Given the description of an element on the screen output the (x, y) to click on. 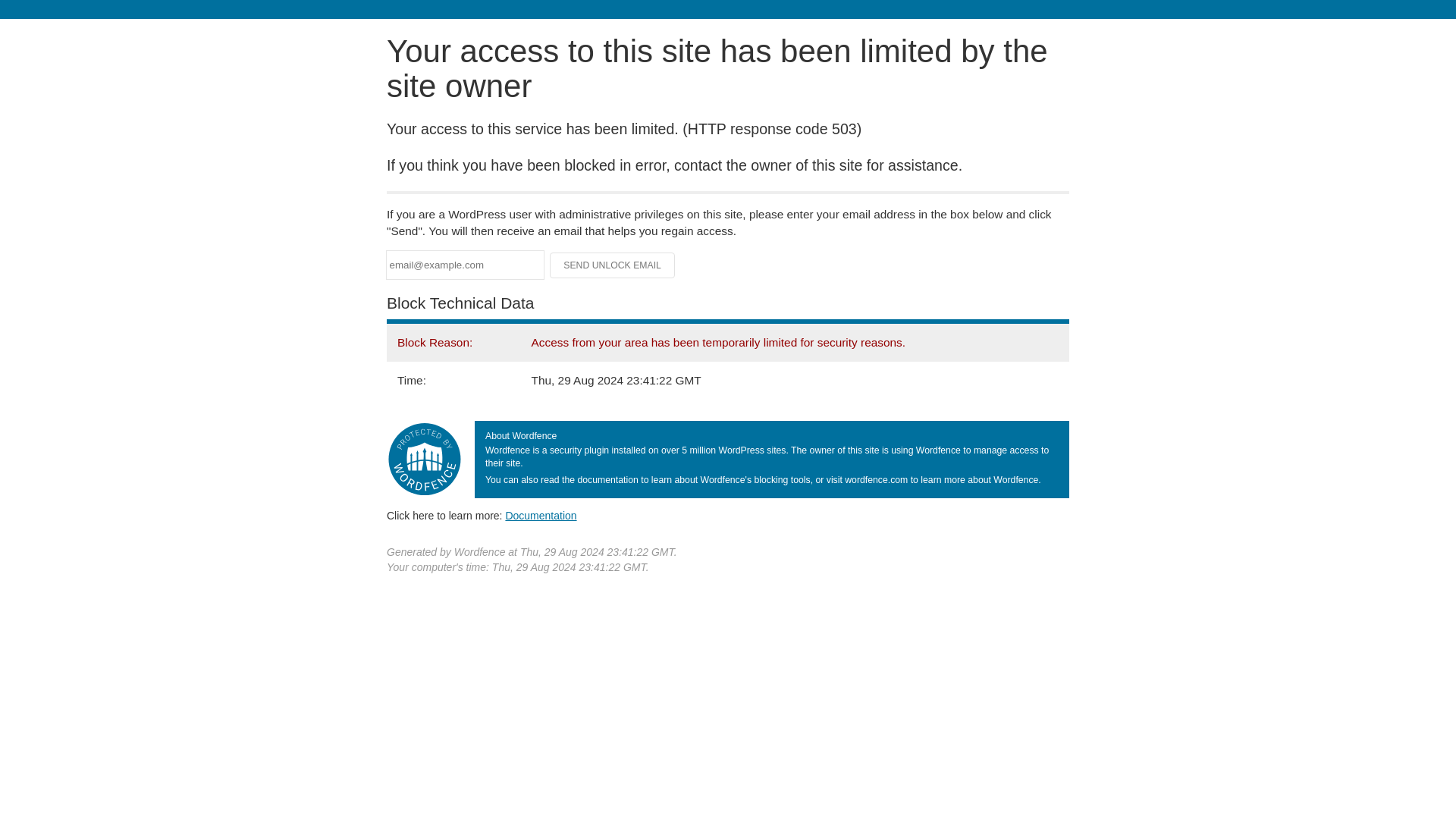
Send Unlock Email (612, 265)
Send Unlock Email (612, 265)
Documentation (540, 515)
